Given the description of an element on the screen output the (x, y) to click on. 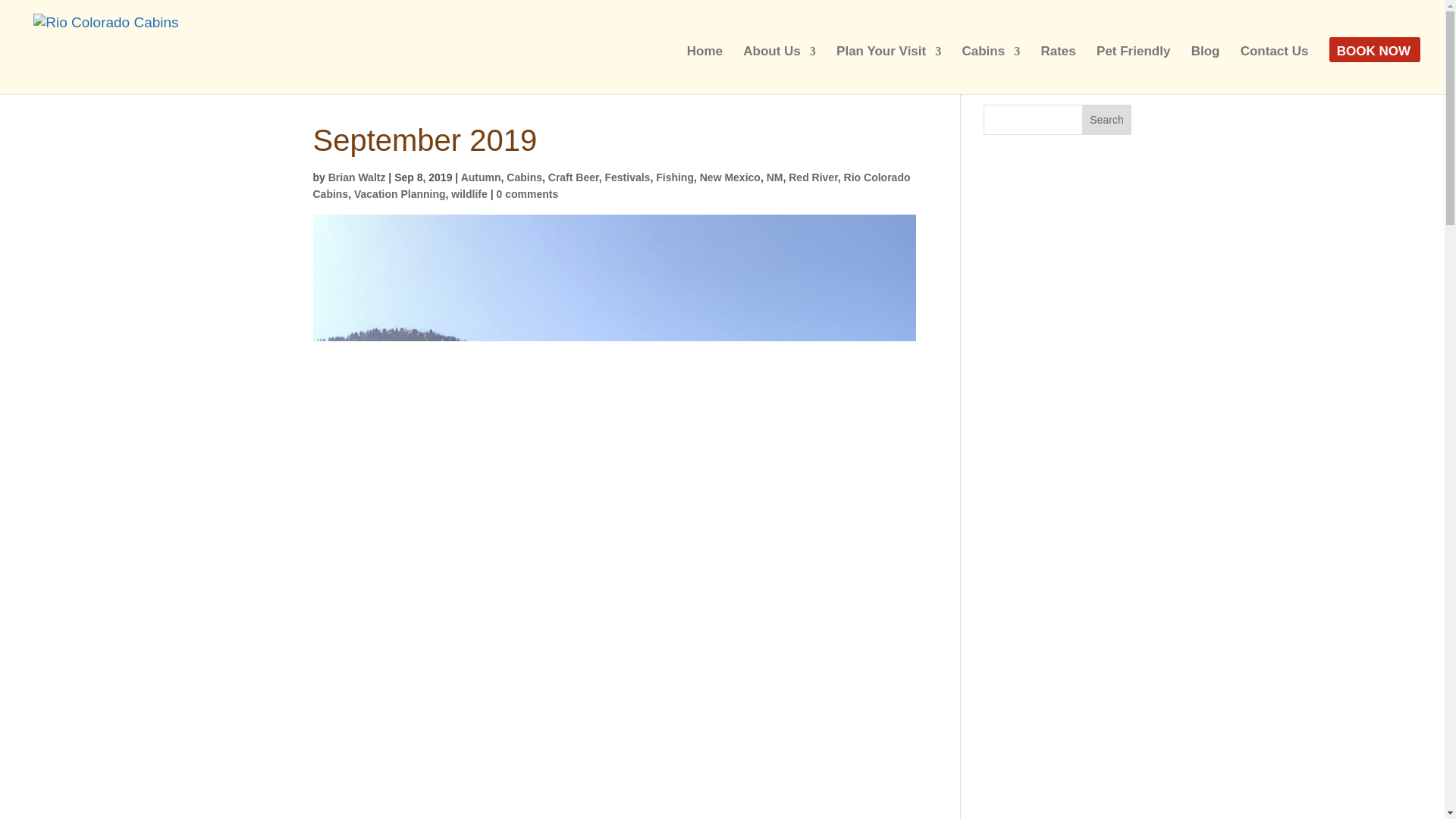
Search (1106, 119)
Pet Friendly (1133, 69)
NM (775, 177)
Cabins (990, 69)
Fishing (675, 177)
Cabins (523, 177)
New Mexico (730, 177)
Brian Waltz (357, 177)
Red River (813, 177)
wildlife (468, 193)
